Given the description of an element on the screen output the (x, y) to click on. 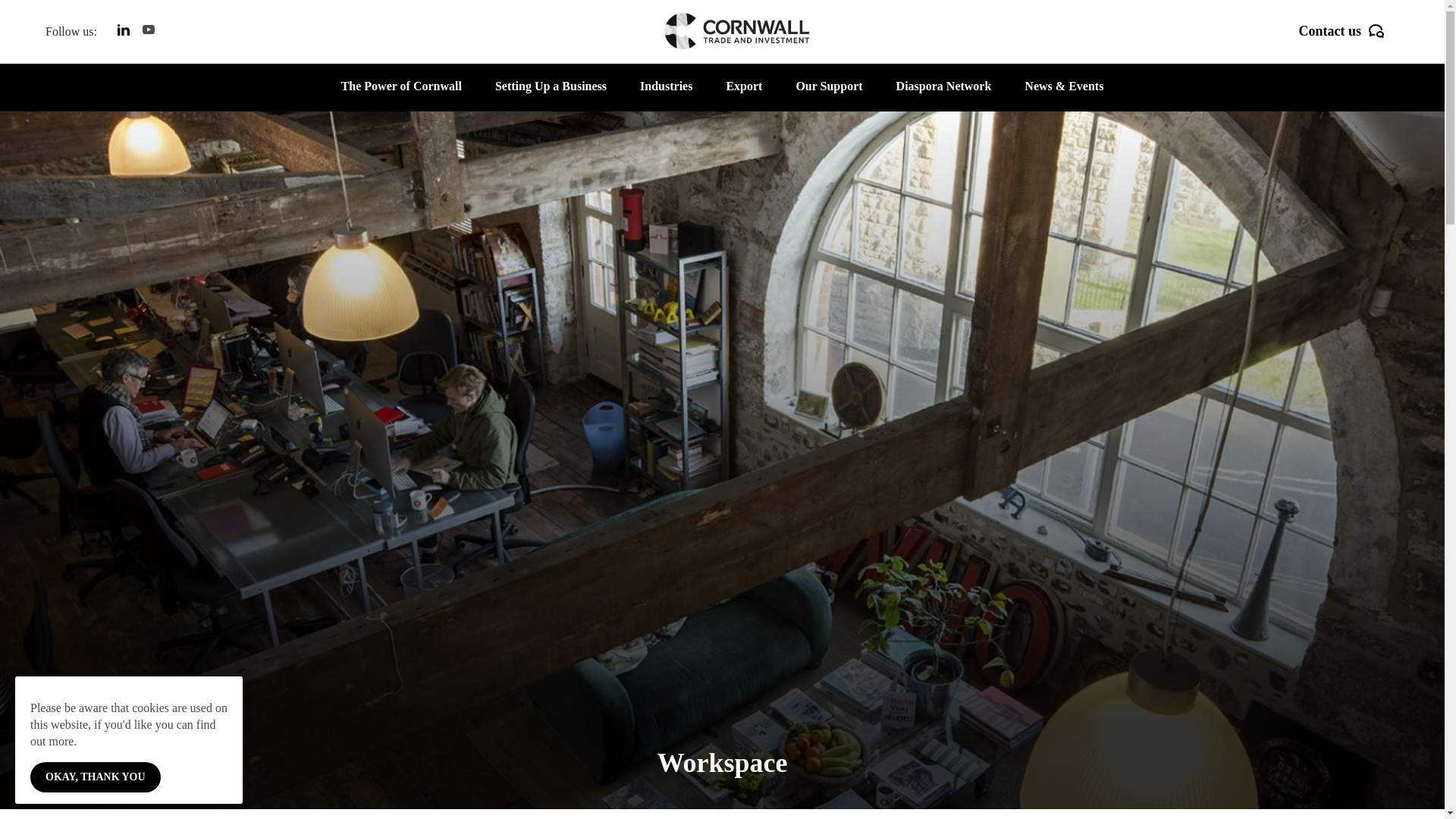
Our Support (827, 92)
Industries (666, 92)
Contact us (1340, 31)
The Power of Cornwall (400, 92)
Diaspora Network (943, 92)
Setting Up a Business (551, 92)
Export (743, 92)
